Given the description of an element on the screen output the (x, y) to click on. 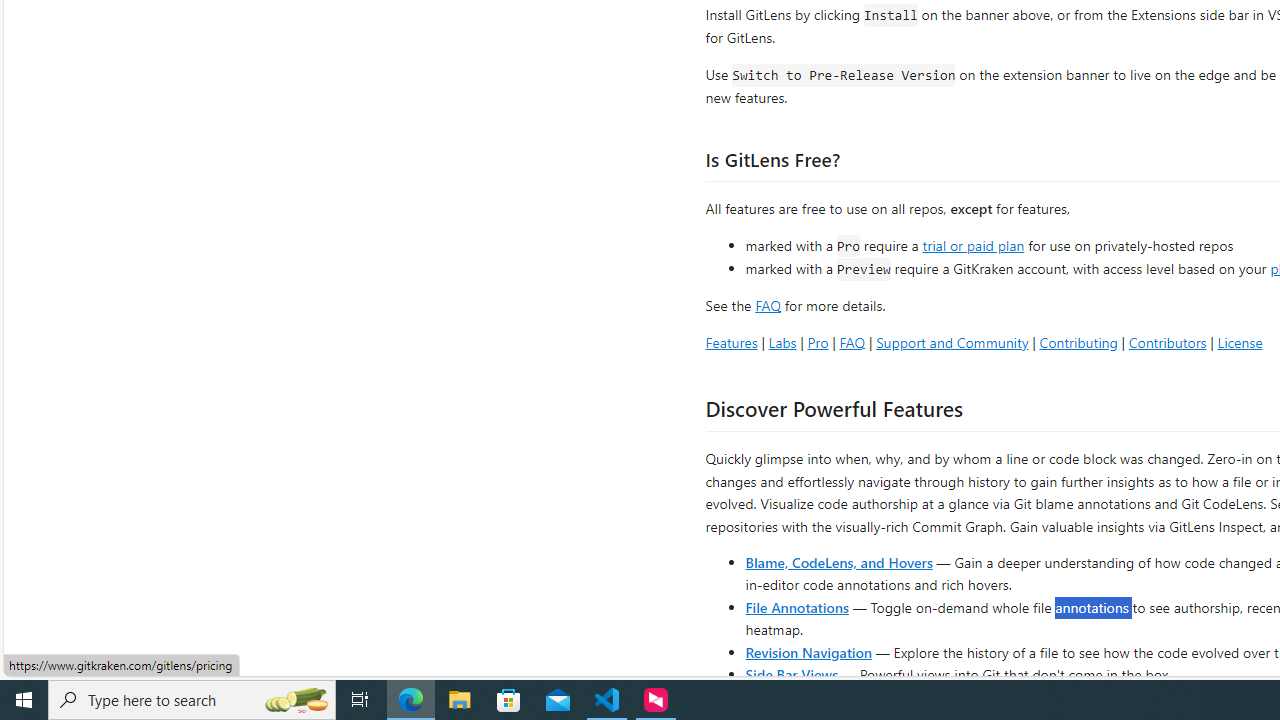
Side Bar Views (791, 673)
Contributing (1078, 341)
Contributors (1167, 341)
Revision Navigation (807, 651)
Pro (817, 341)
trial or paid plan (973, 244)
License (1240, 341)
Labs (782, 341)
Features (731, 341)
Support and Community (952, 341)
Blame, CodeLens, and Hovers (838, 561)
File Annotations (796, 606)
FAQ (852, 341)
